Given the description of an element on the screen output the (x, y) to click on. 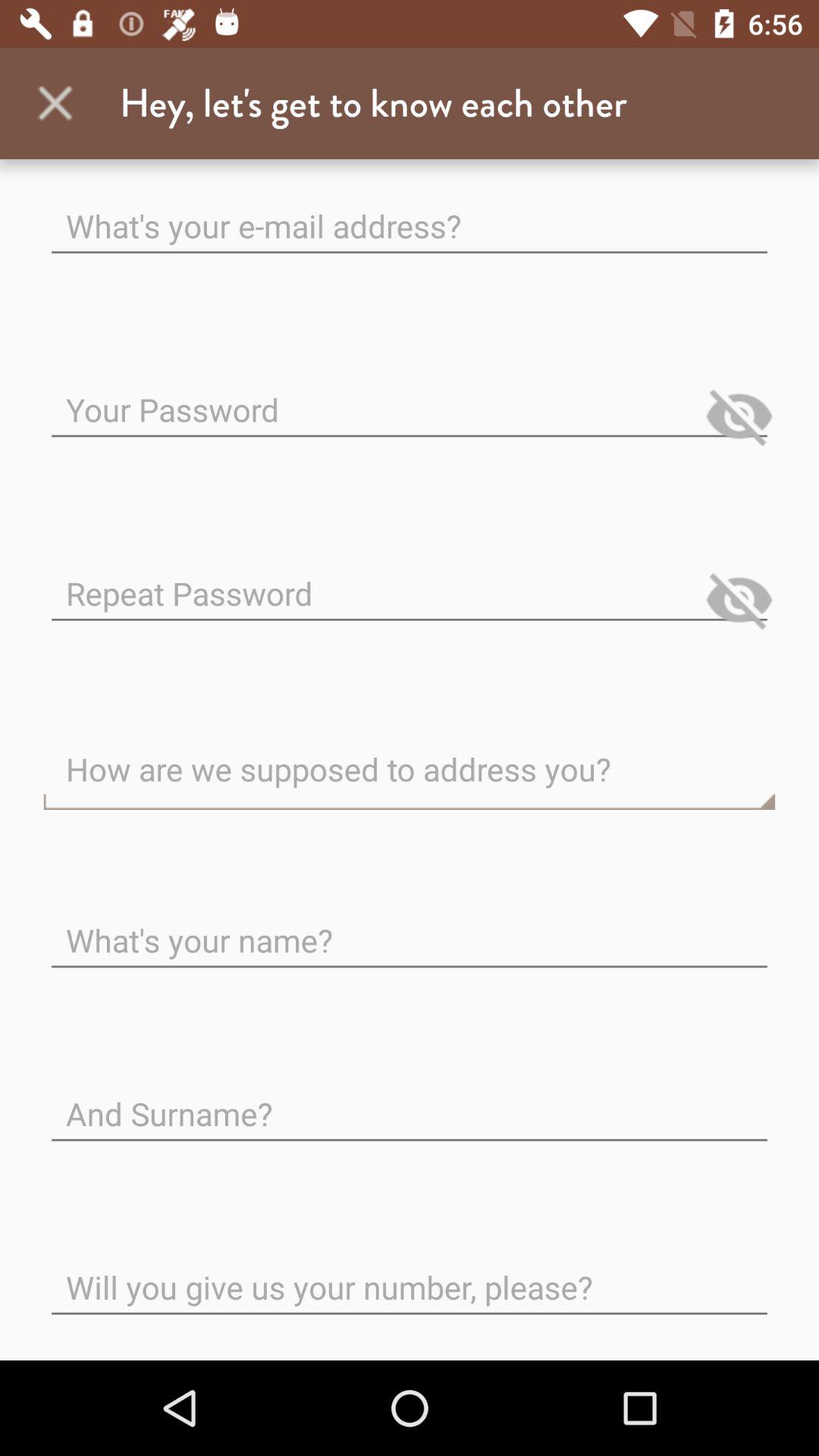
show input (739, 599)
